Given the description of an element on the screen output the (x, y) to click on. 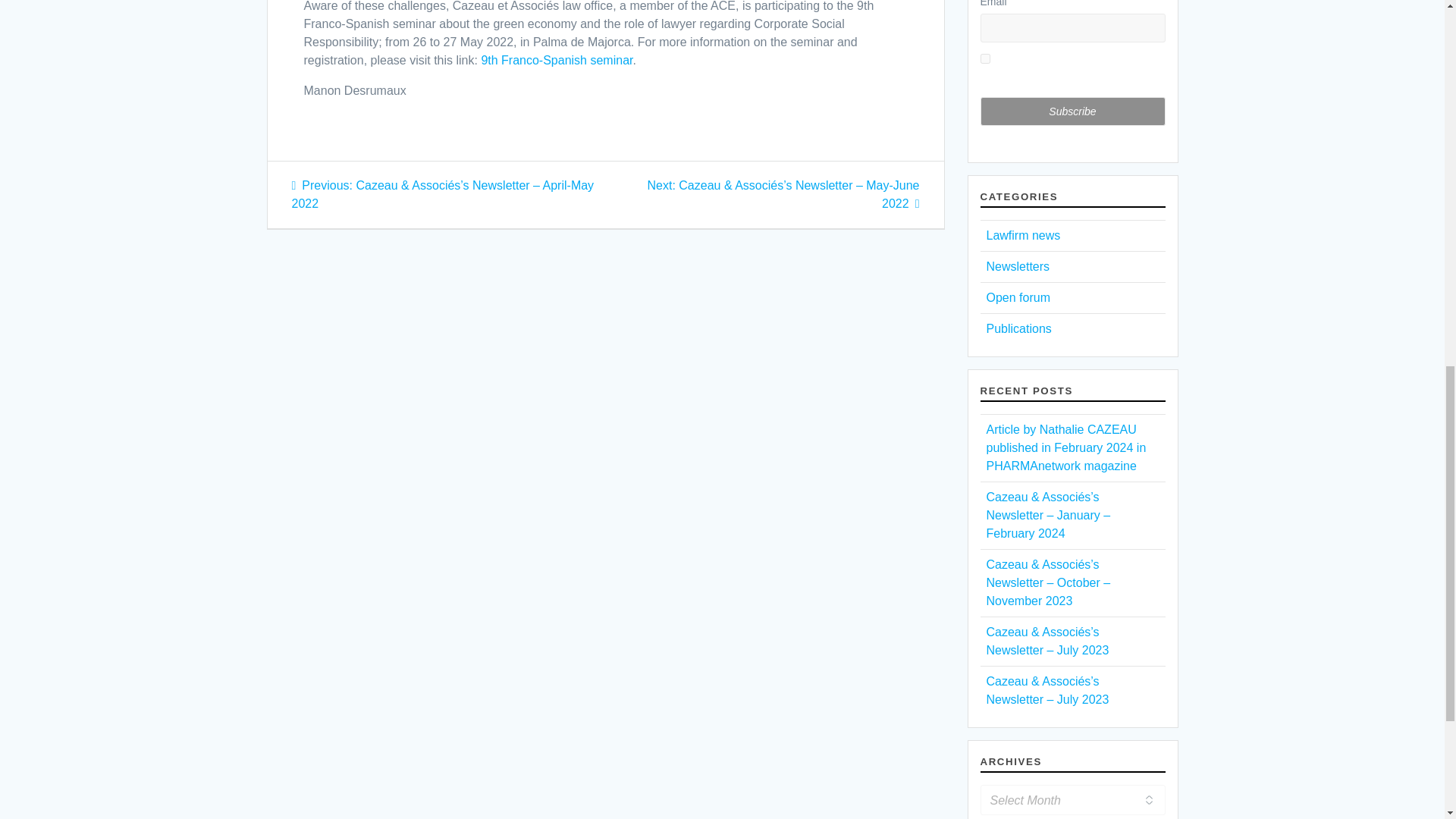
Publications (1018, 328)
Subscribe (1071, 111)
To continue, you need accept The privacy acceptance (1066, 68)
Open forum (1017, 297)
Lawfirm news (1022, 235)
9th Franco-Spanish seminar (555, 60)
Newsletters (1017, 266)
on (984, 58)
Subscribe (1071, 111)
